Given the description of an element on the screen output the (x, y) to click on. 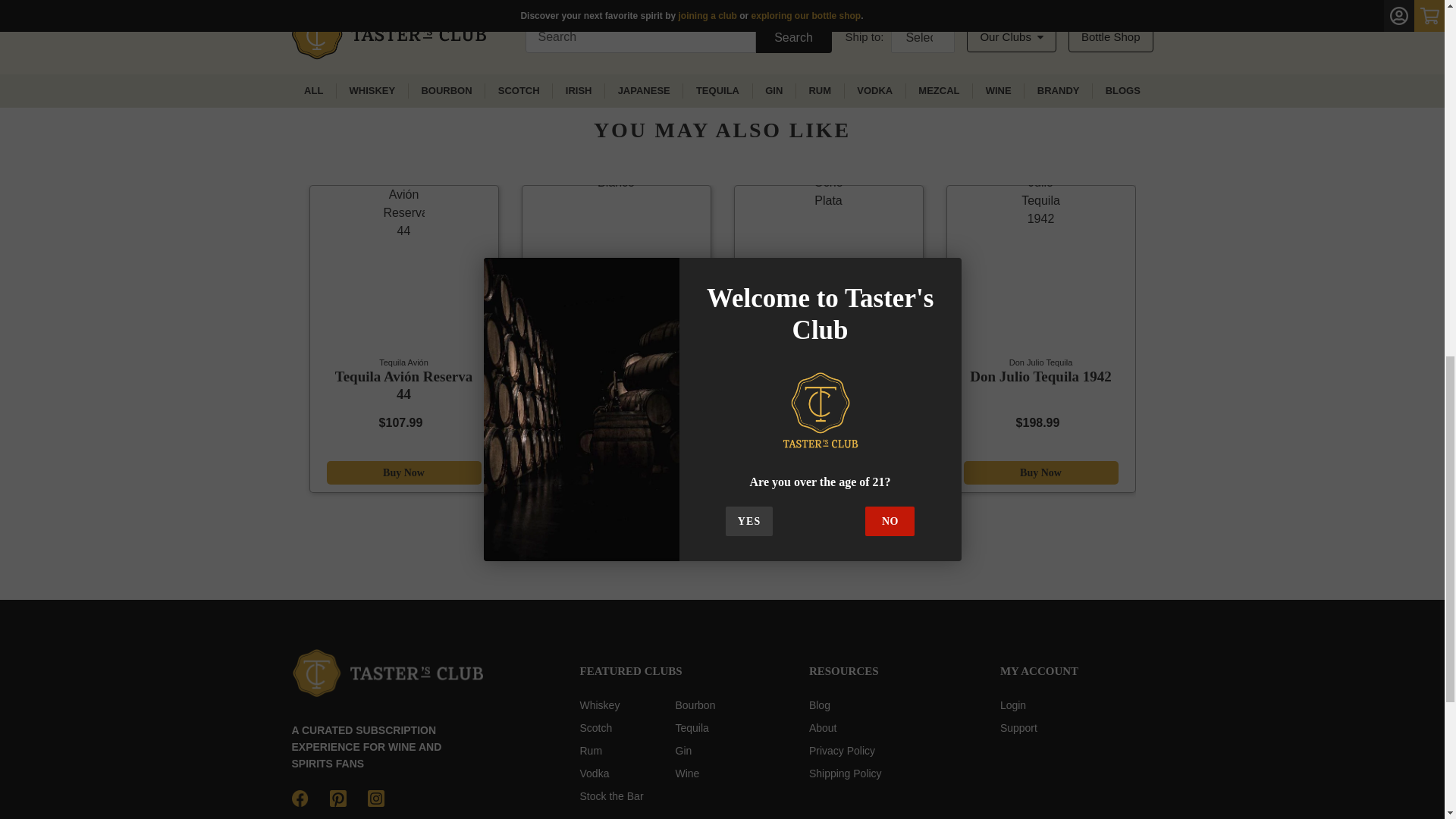
1 (759, 7)
